Given the description of an element on the screen output the (x, y) to click on. 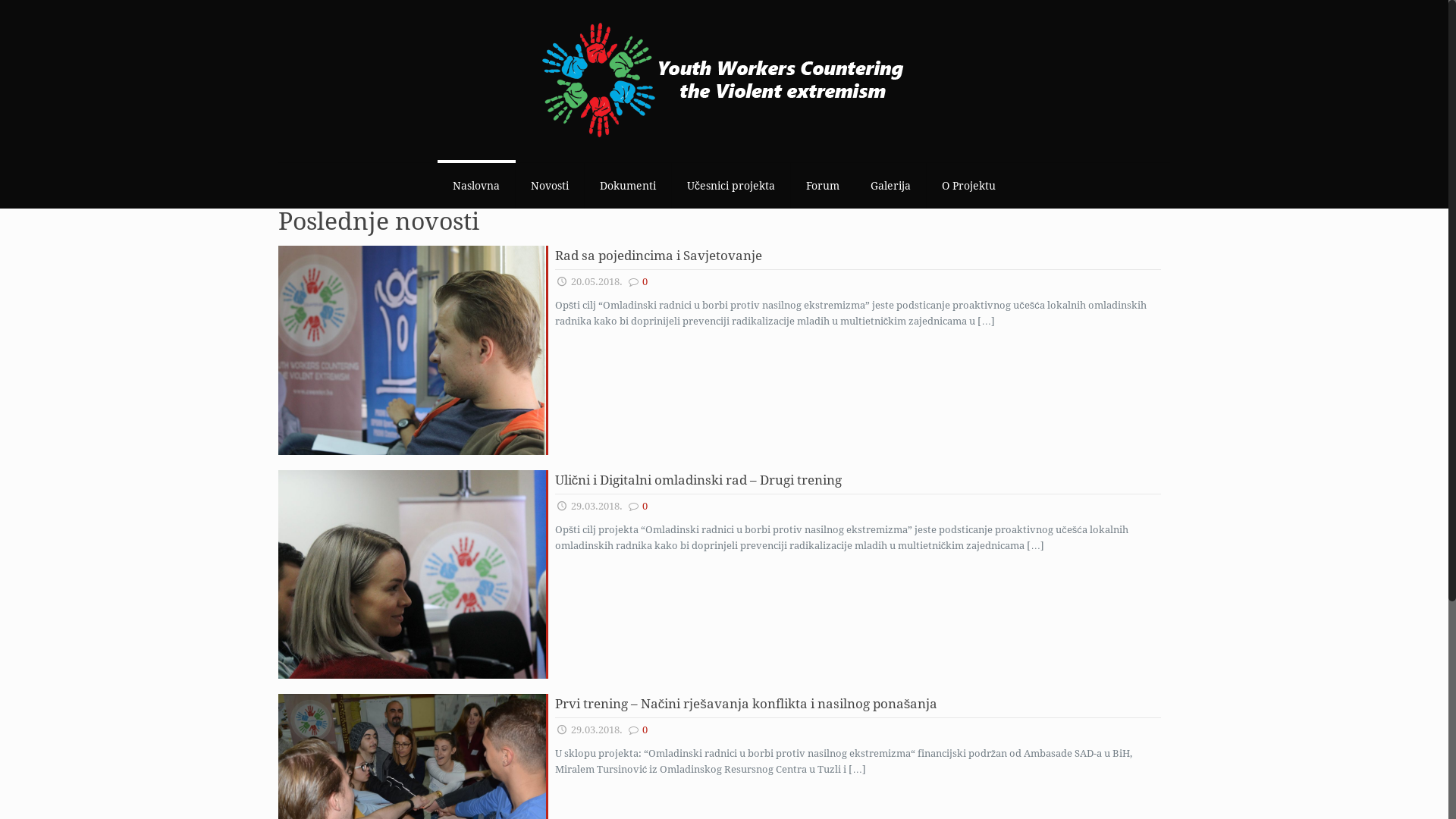
Counter Element type: hover (723, 81)
Forum Element type: text (822, 185)
Naslovna Element type: text (476, 185)
0 Element type: text (644, 281)
0 Element type: text (644, 505)
0 Element type: text (644, 729)
Rad sa pojedincima i Savjetovanje Element type: text (658, 255)
O Projektu Element type: text (968, 185)
Dokumenti Element type: text (627, 185)
Galerija Element type: text (890, 185)
Novosti Element type: text (549, 185)
